Given the description of an element on the screen output the (x, y) to click on. 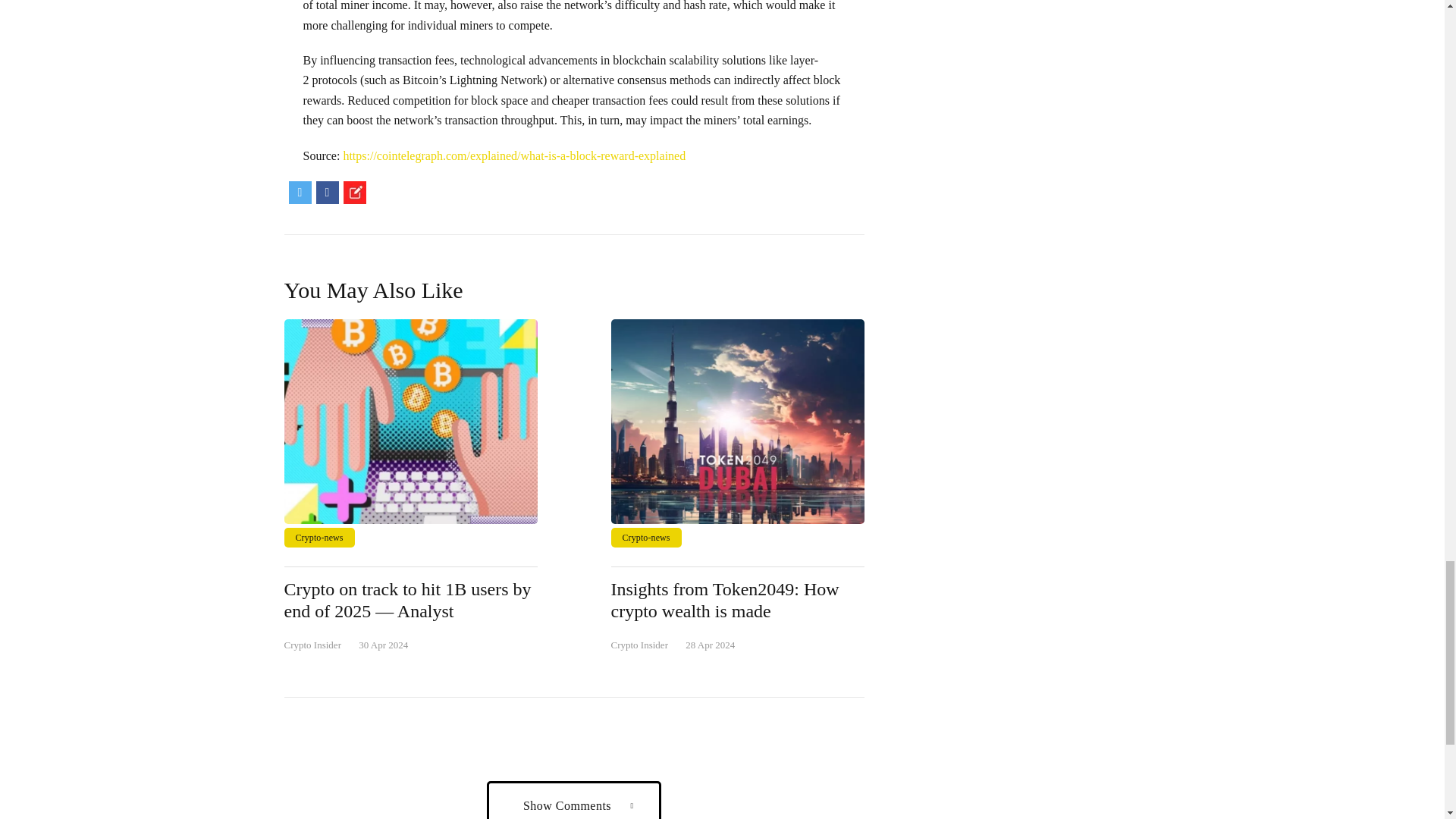
Posts by Crypto Insider (639, 644)
Share on Facebook (326, 191)
Share on Twitter (299, 191)
Posts by Crypto Insider (311, 644)
Share on Reddit (353, 191)
